Given the description of an element on the screen output the (x, y) to click on. 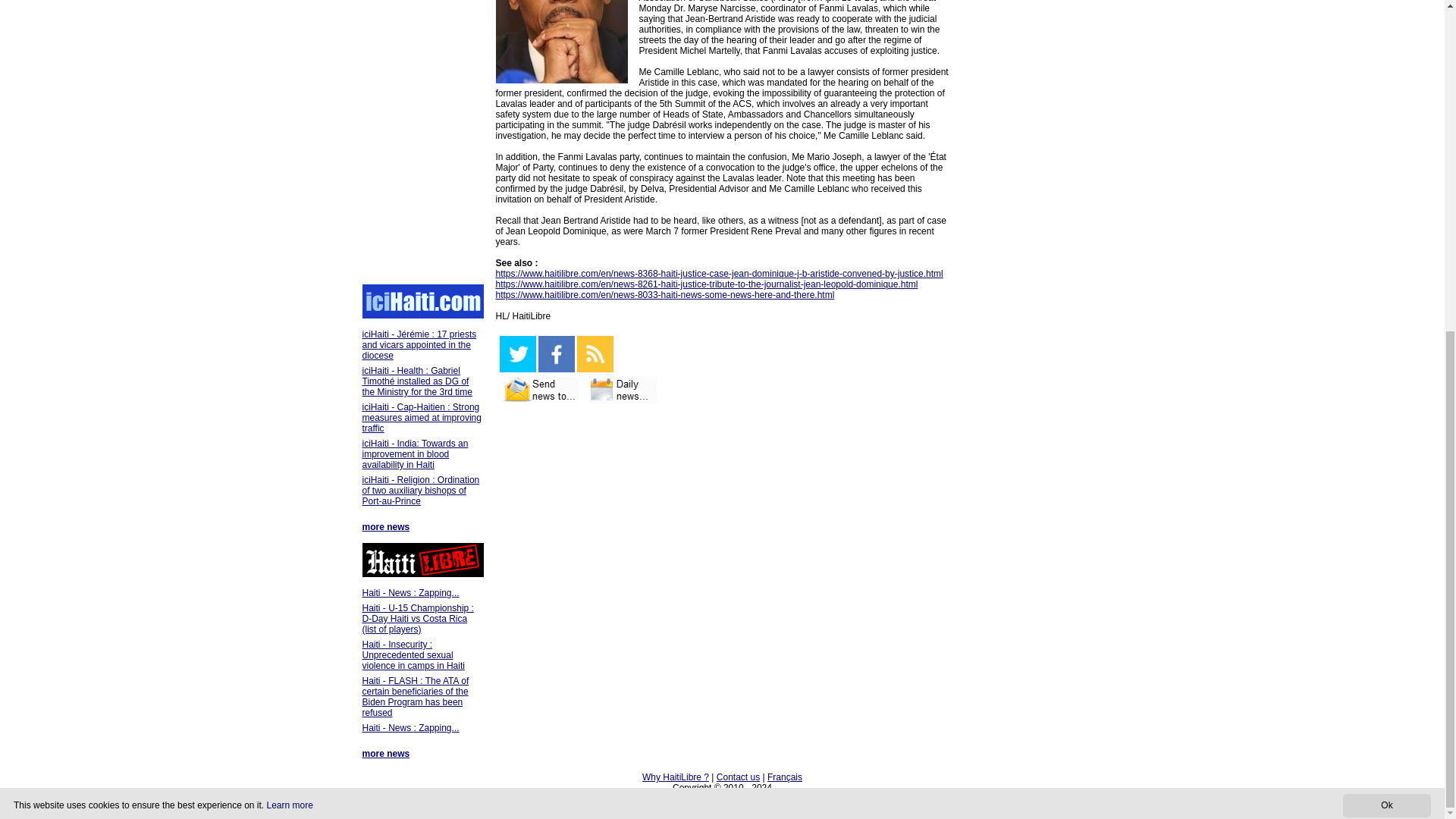
Haiti - News : Zapping... (411, 727)
Haiti - News : Zapping... (411, 593)
more news (386, 526)
more news (386, 753)
